Given the description of an element on the screen output the (x, y) to click on. 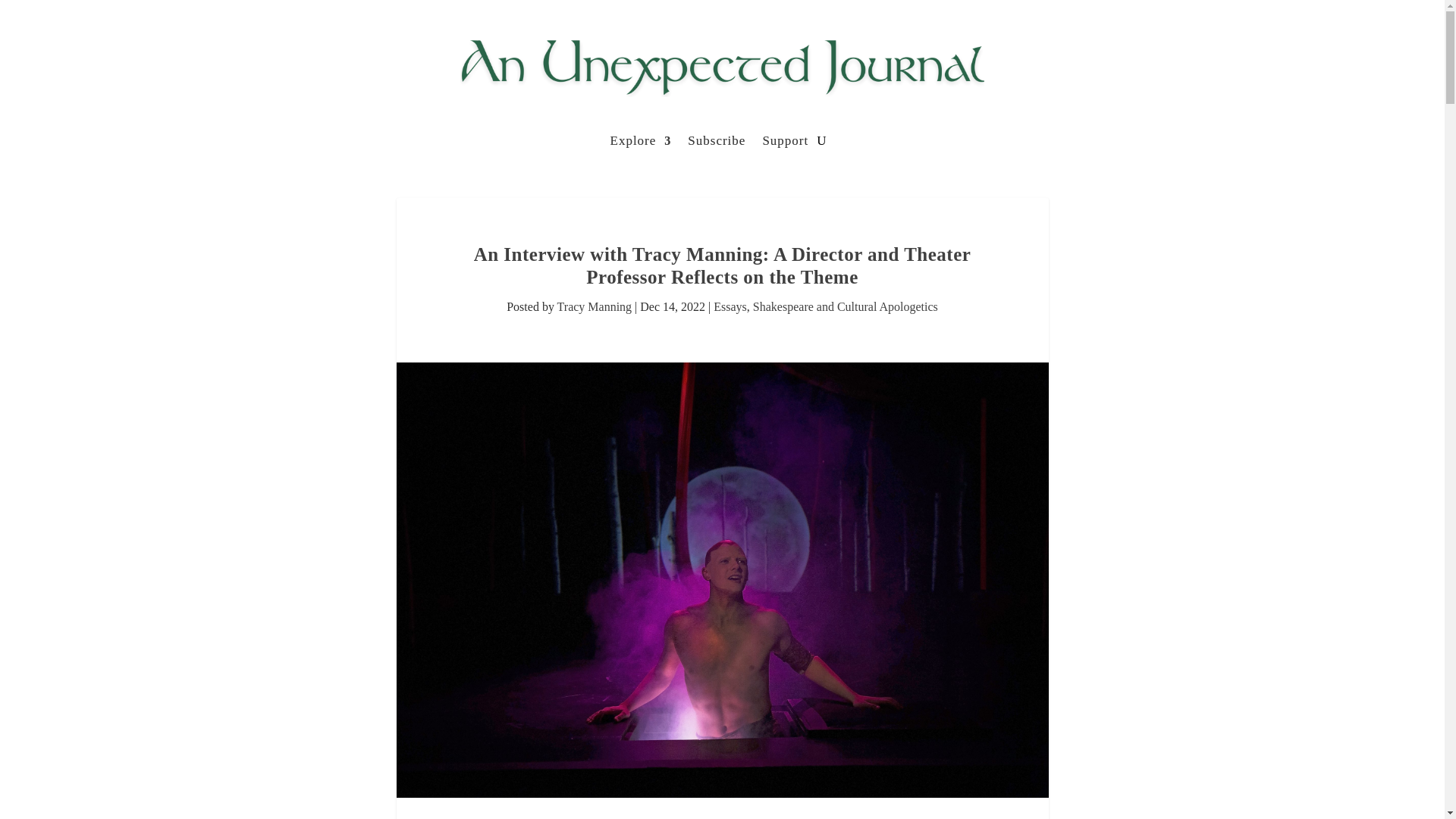
Explore (640, 143)
Posts by Tracy Manning (594, 306)
Shakespeare and Cultural Apologetics (844, 306)
Tracy Manning (594, 306)
Essays (729, 306)
Support (784, 143)
Subscribe (716, 143)
